Given the description of an element on the screen output the (x, y) to click on. 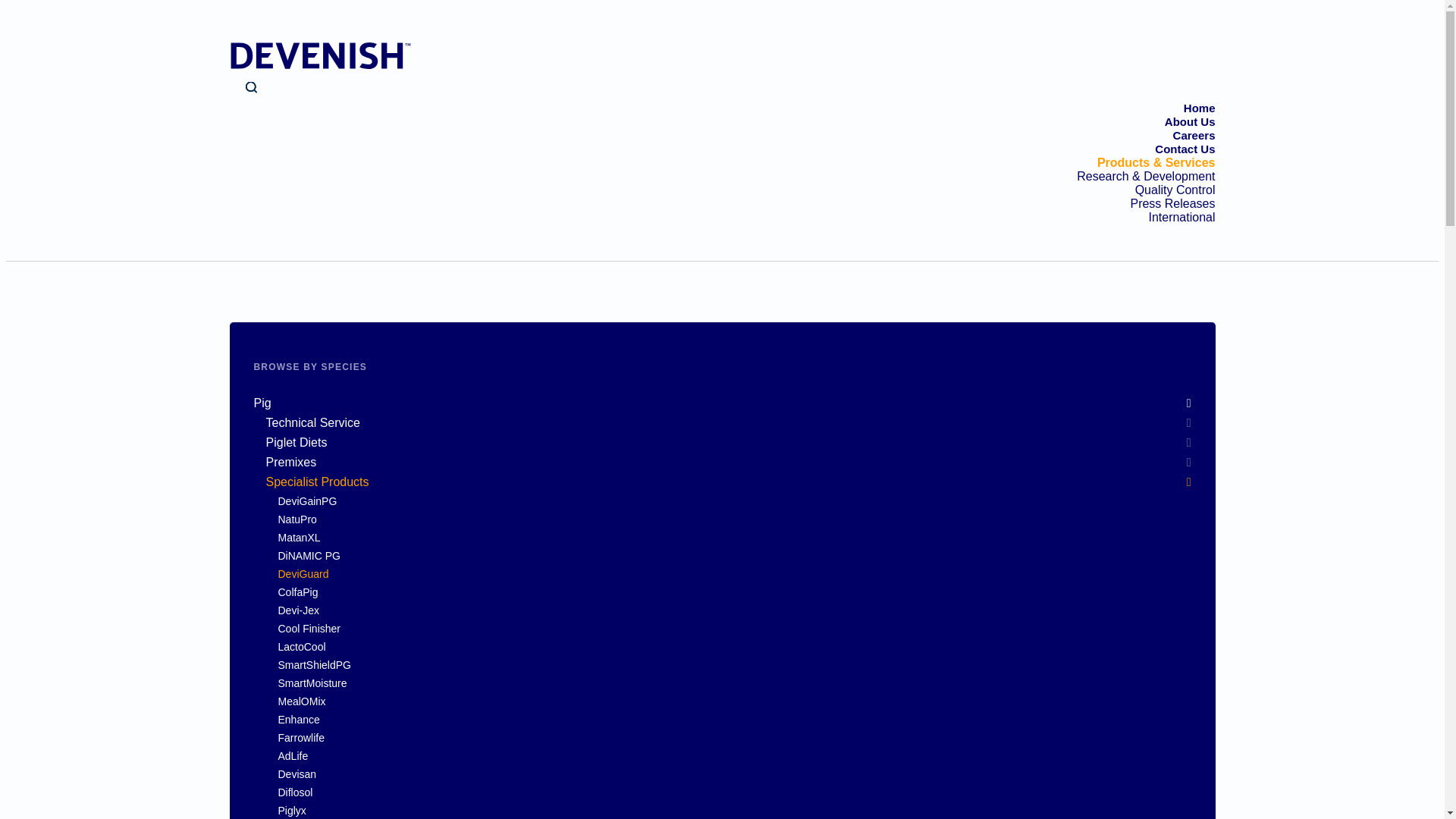
MatanXL (734, 537)
LactoCool (734, 646)
Pig (722, 403)
Farrowlife (734, 737)
DeviGuard (734, 573)
Devi-Jex (734, 610)
DeviGainPG (734, 500)
About Us (1189, 121)
Premixes (727, 462)
Contact Us (1184, 148)
NatuPro (734, 519)
Devisan (734, 774)
Specialist Products (727, 481)
AdLife (734, 756)
Press Releases (1171, 203)
